Given the description of an element on the screen output the (x, y) to click on. 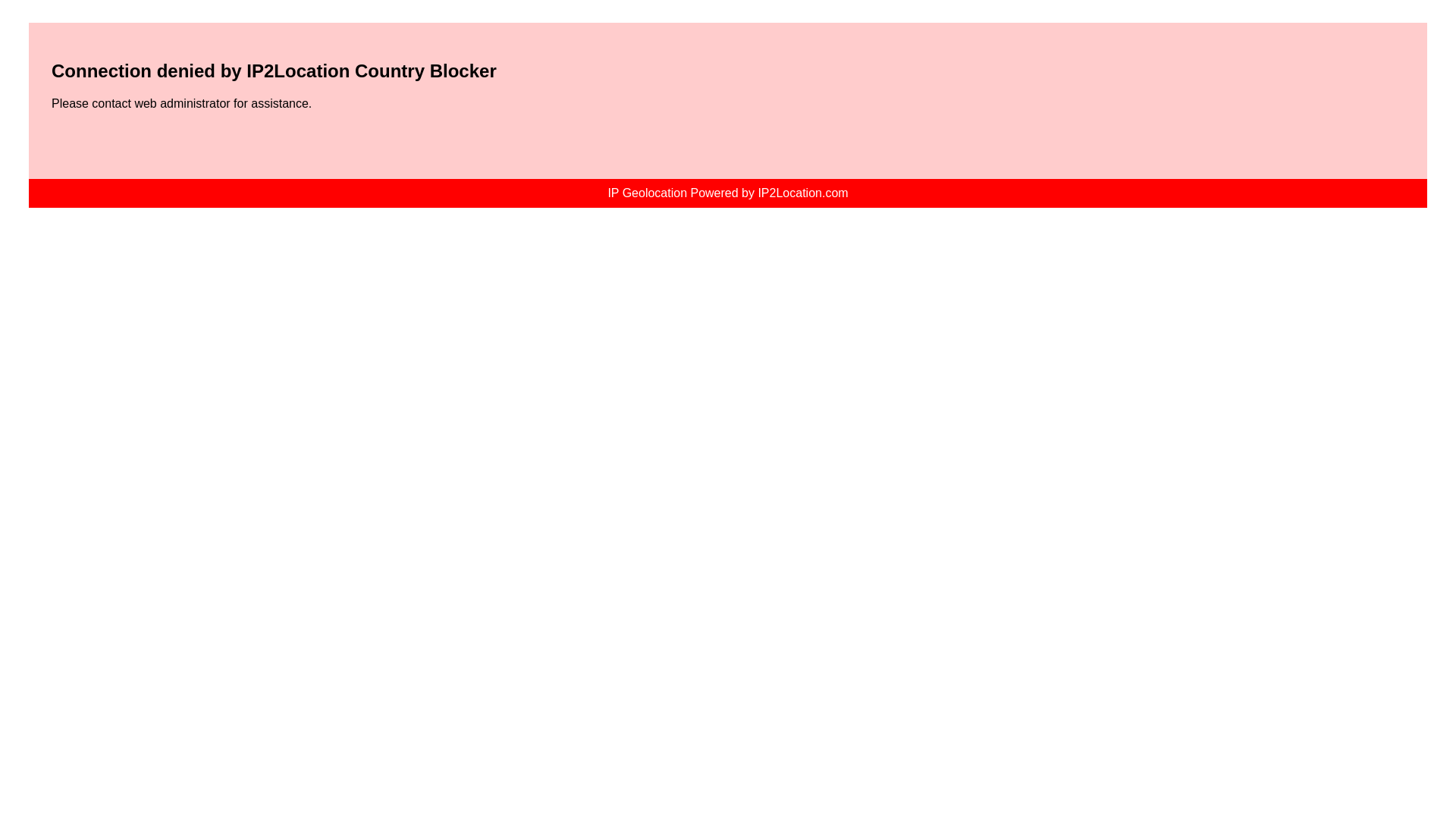
IP Geolocation Powered by IP2Location.com Element type: text (727, 192)
